Given the description of an element on the screen output the (x, y) to click on. 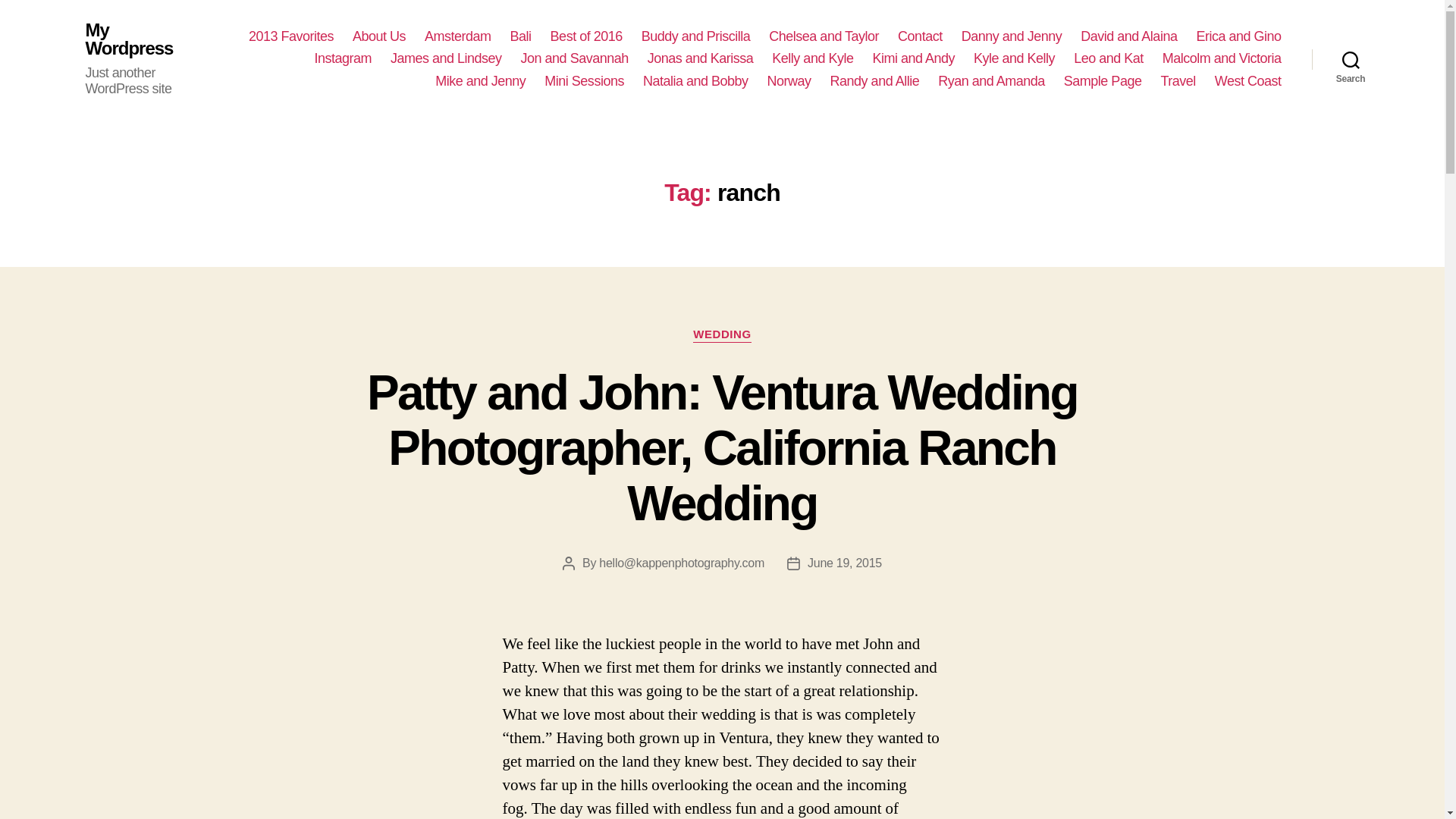
Leo and Kat (1108, 58)
Danny and Jenny (1011, 36)
Best of 2016 (586, 36)
Travel (1177, 81)
Mike and Jenny (480, 81)
James and Lindsey (446, 58)
Malcolm and Victoria (1221, 58)
Ryan and Amanda (991, 81)
Jonas and Karissa (700, 58)
Bali (521, 36)
Jon and Savannah (574, 58)
Kimi and Andy (913, 58)
Randy and Allie (874, 81)
Buddy and Priscilla (696, 36)
Sample Page (1102, 81)
